Given the description of an element on the screen output the (x, y) to click on. 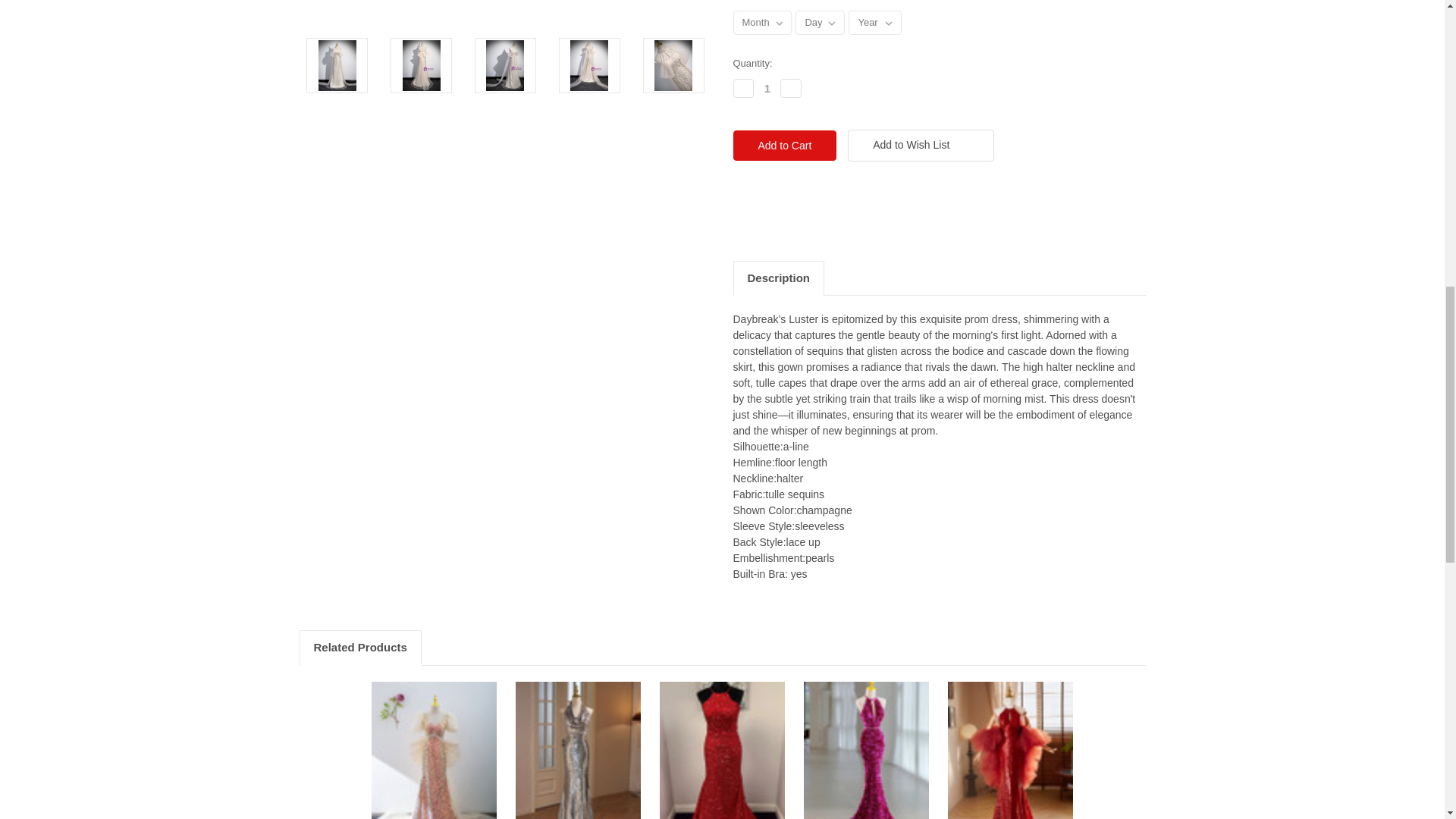
Red Mermaid Sequins Halter Prom Dress (1010, 750)
Champagne Mermaid Sequins Prom Dress (433, 750)
Champagne Mermaid Sequins Halter Prom Dress (504, 14)
Red Mermaid Sequins Halter Backless Prom Dress (722, 750)
Add to Cart (783, 145)
Fuchsia Mermaid Sequins Halter Prom Dress (866, 750)
1 (767, 88)
Silver Mermaid Sequins Halter Prom Dress (577, 750)
